Given the description of an element on the screen output the (x, y) to click on. 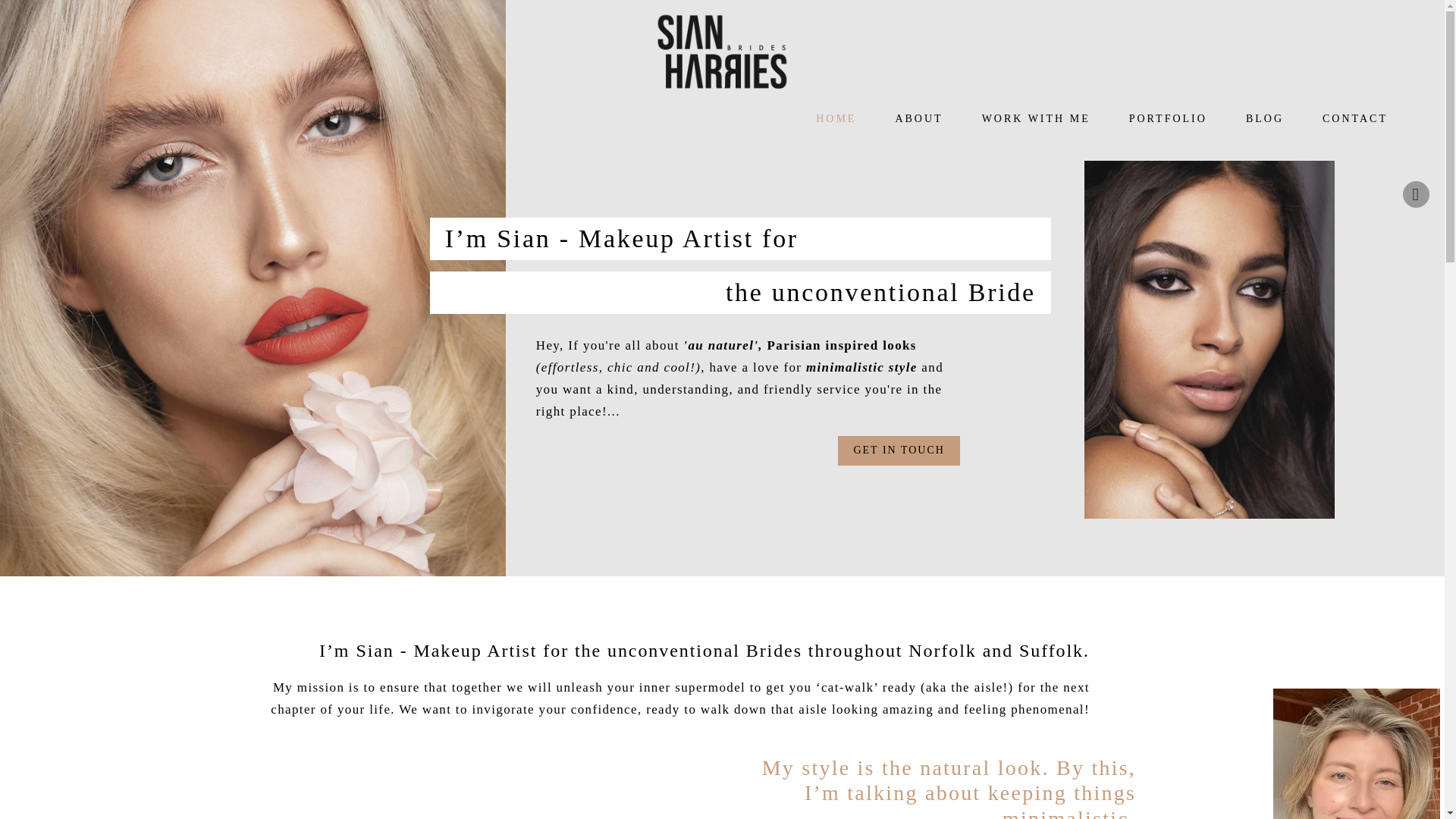
sianlogo2 (722, 51)
PORTFOLIO (1167, 119)
WORK WITH ME (1035, 119)
sian-harries-makeupartist (1355, 753)
GET IN TOUCH (898, 450)
CONTACT (1354, 119)
HOME (835, 119)
instagram (1416, 194)
ABOUT (918, 119)
BLOG (1265, 119)
